Given the description of an element on the screen output the (x, y) to click on. 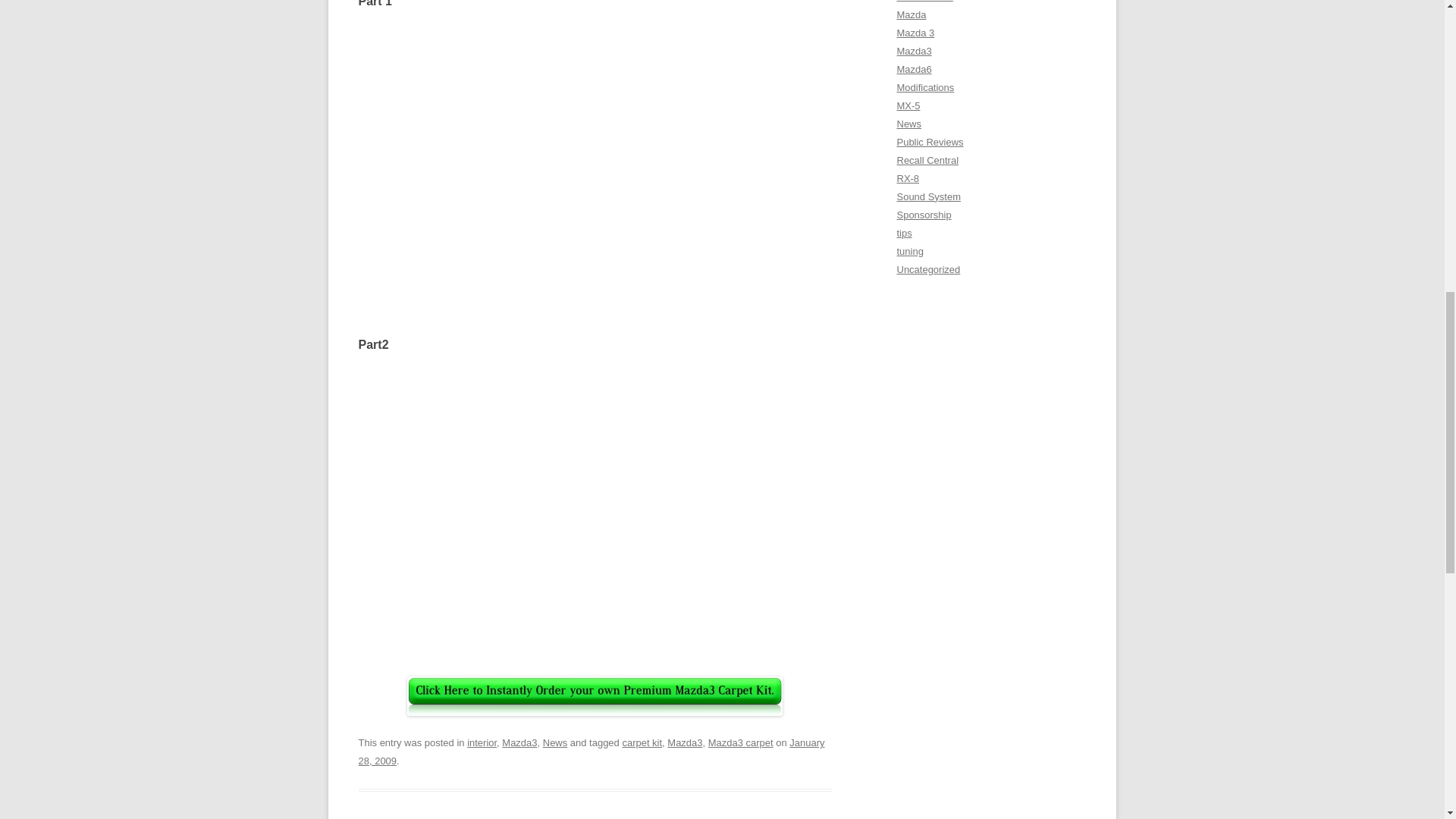
News (555, 742)
January 28, 2009 (591, 751)
Mazda3 (683, 742)
Mazda3 carpet (740, 742)
3:19 pm (591, 751)
carpet kit (641, 742)
Mazda3 (519, 742)
interior (481, 742)
postfooter (595, 695)
